Given the description of an element on the screen output the (x, y) to click on. 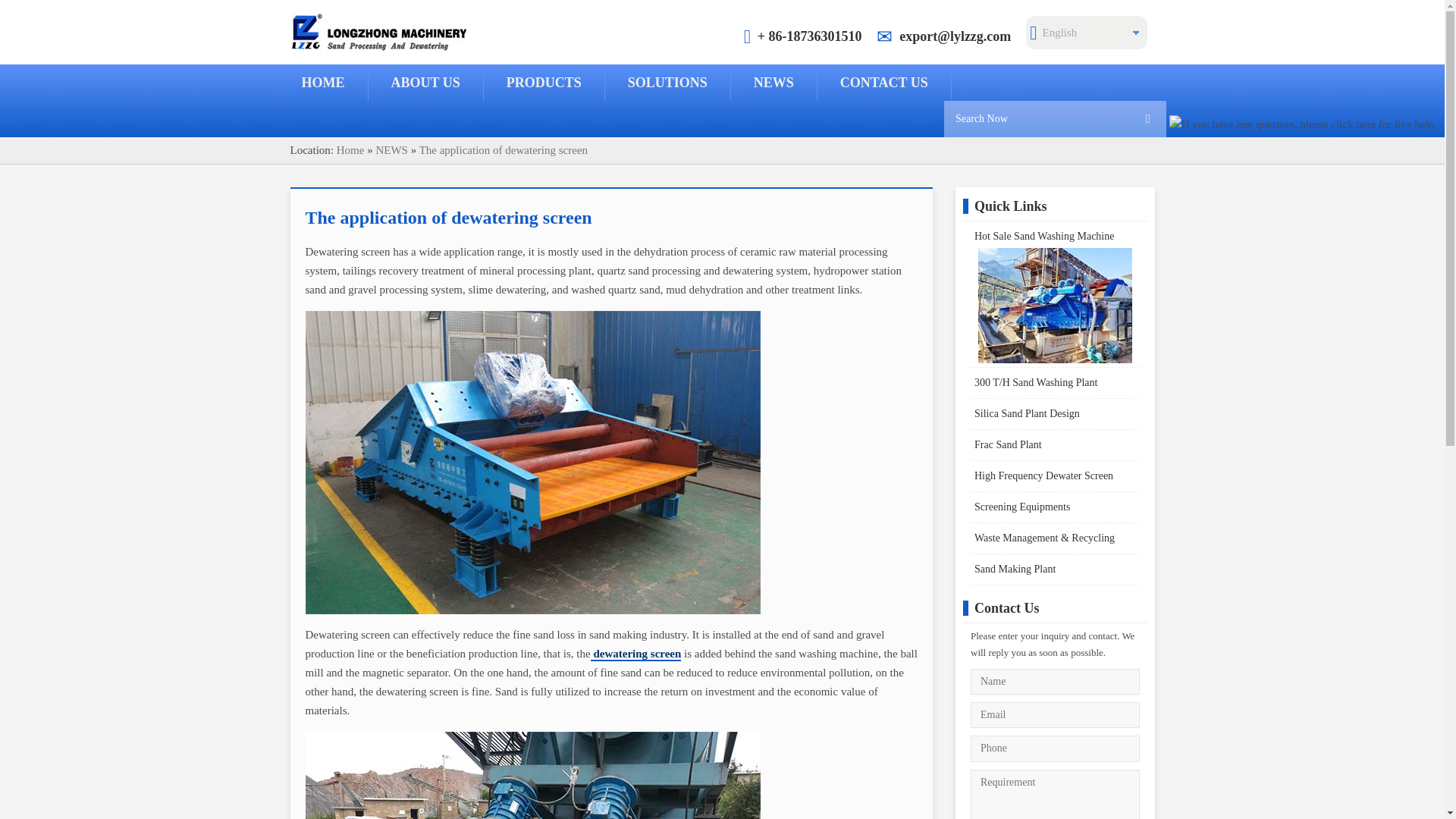
Hot Sale Sand Washing Machine (1054, 294)
Search (1054, 118)
SOLUTIONS (667, 82)
HOME (323, 82)
ABOUT US (425, 82)
Silica Sand Plant Design (1054, 413)
Sand Making Plant (1054, 568)
Frac Sand Plant (1054, 445)
Sand Washing Machine (1054, 305)
Screening Equipments (1054, 507)
High Frequency Dewater Screen (1054, 476)
NEWS (773, 82)
dewatering screen (636, 653)
NEWS (391, 150)
CONTACT US (883, 82)
